Given the description of an element on the screen output the (x, y) to click on. 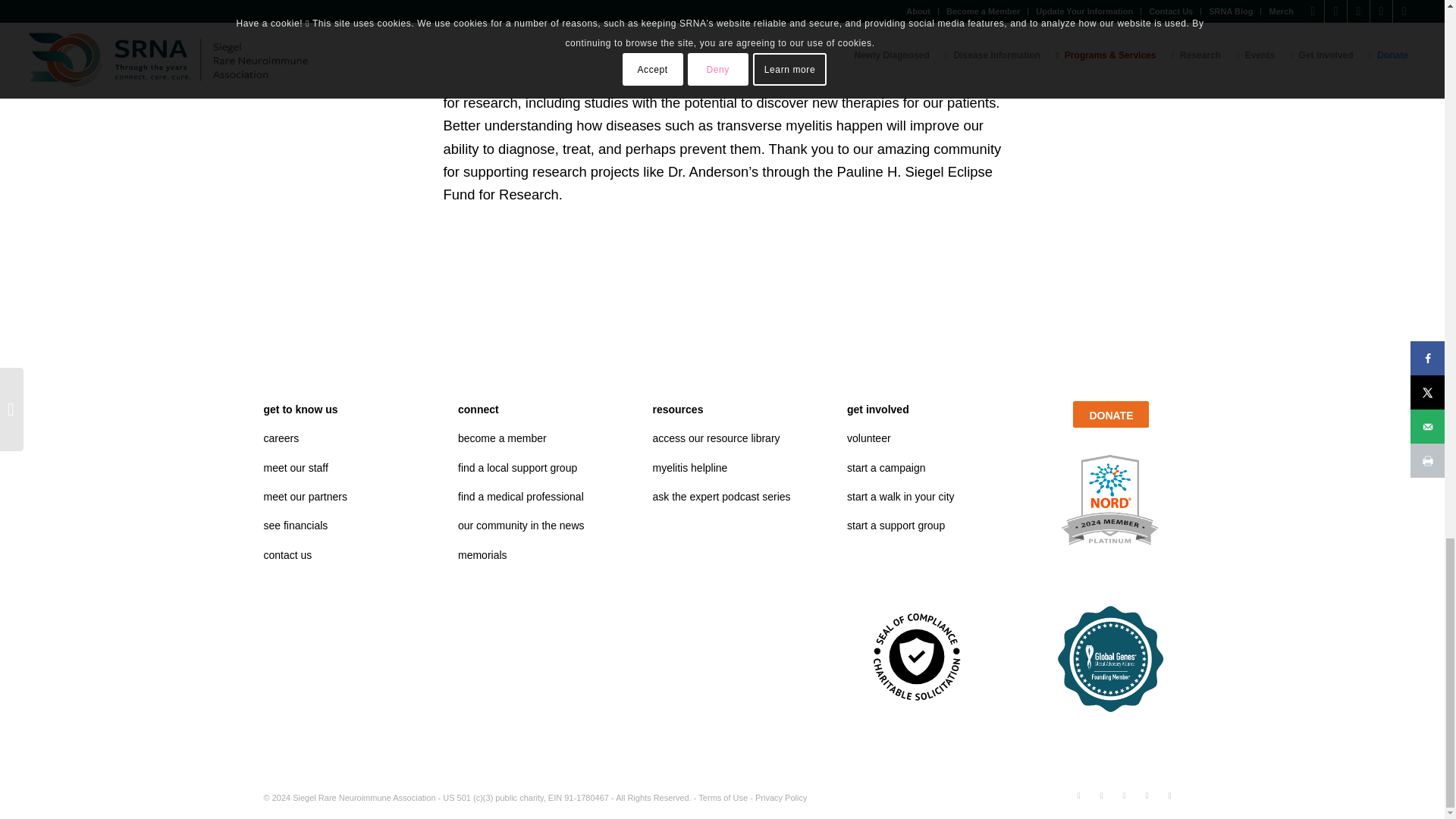
Facebook (1078, 794)
X (1124, 794)
Instagram (1101, 794)
Youtube (1146, 794)
